Given the description of an element on the screen output the (x, y) to click on. 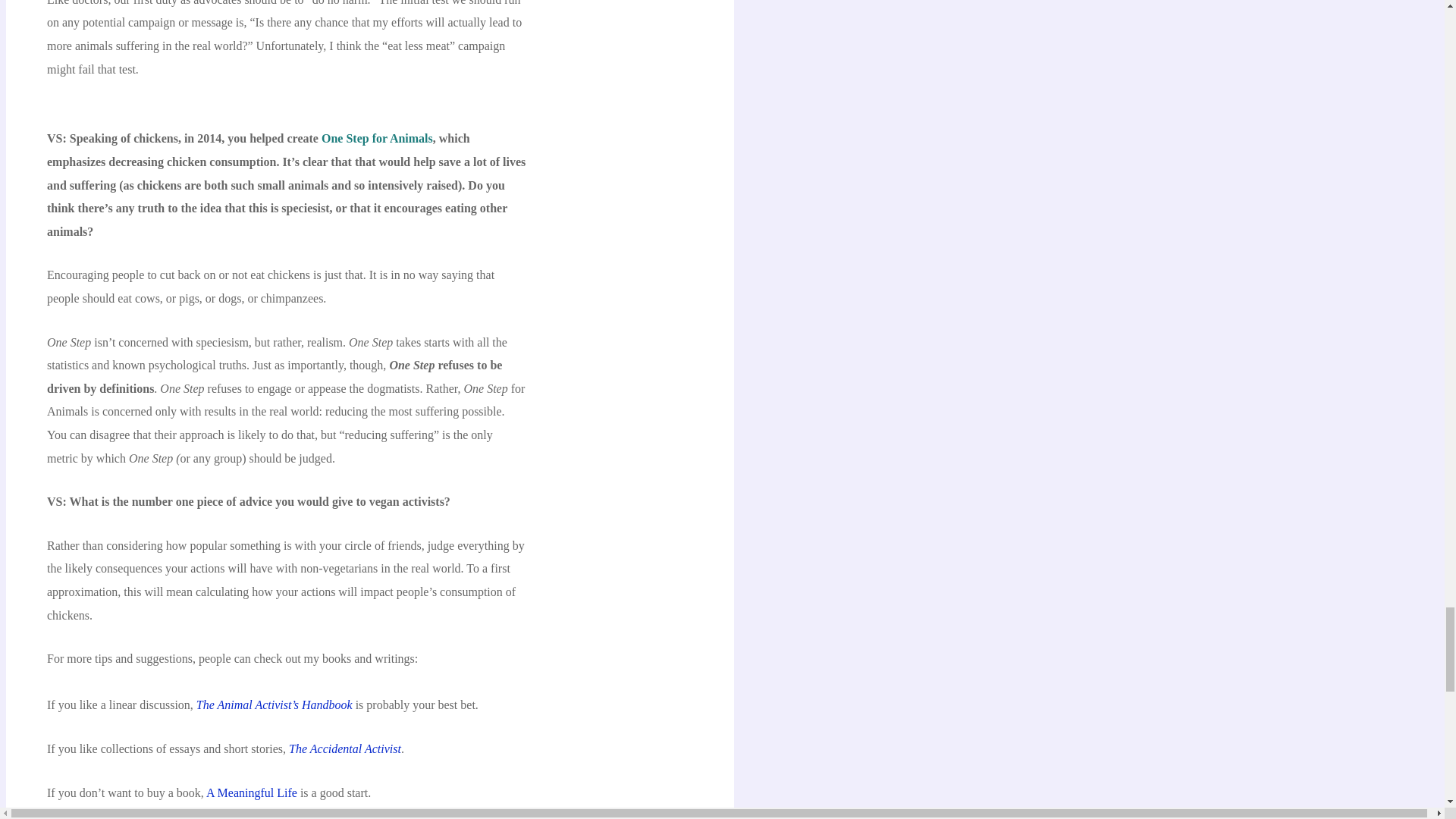
A Meaningful Life (251, 792)
The Accidental Activist (344, 748)
One Step for Animals (376, 137)
